Given the description of an element on the screen output the (x, y) to click on. 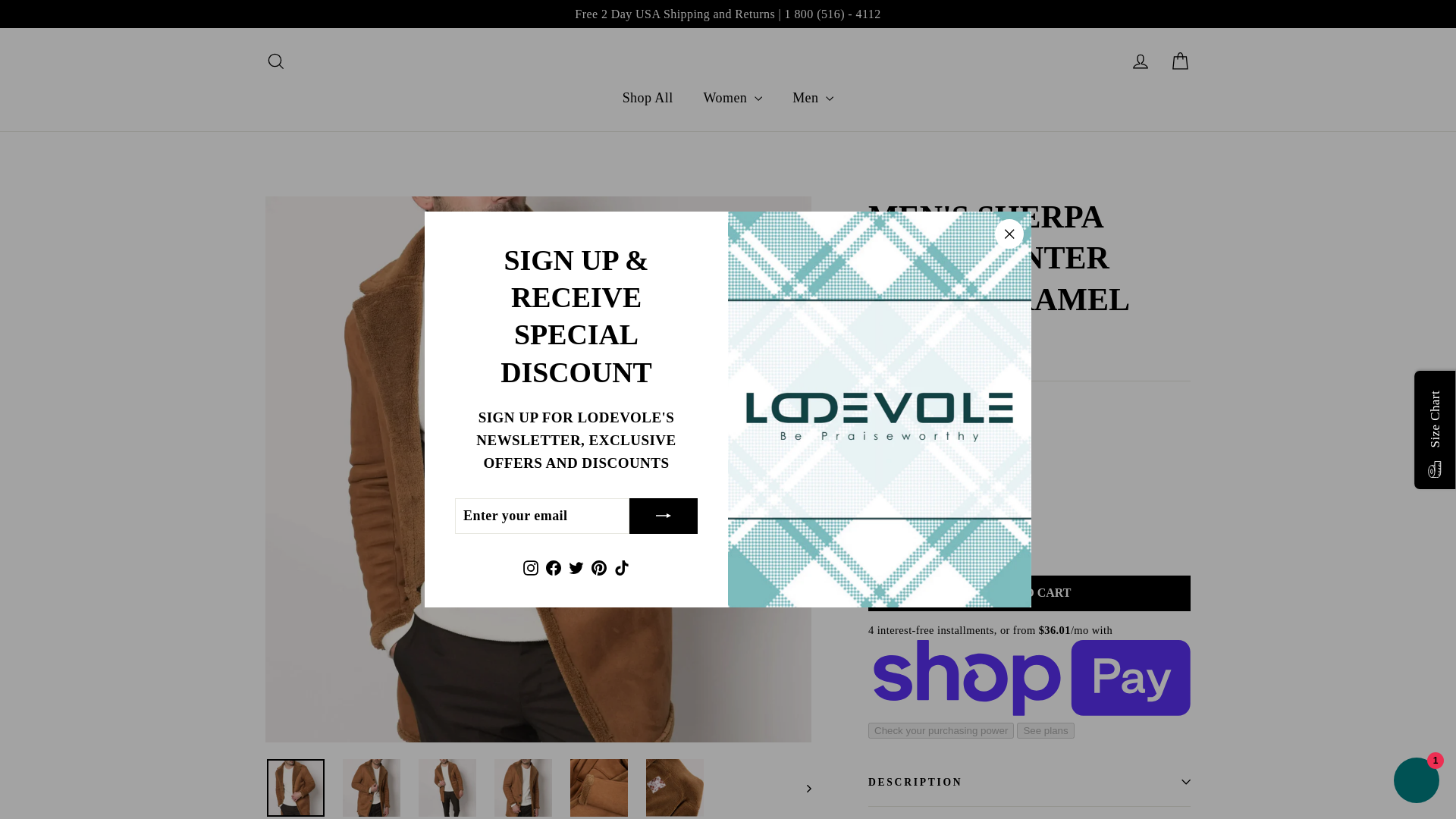
account (1140, 61)
Lodevole on Instagram (530, 566)
icon-X (275, 61)
Lodevole on Facebook (1009, 233)
Lodevole on TikTok (552, 566)
Lodevole on Pinterest (621, 566)
Lodevole on Twitter (599, 566)
icon-search (576, 566)
